Given the description of an element on the screen output the (x, y) to click on. 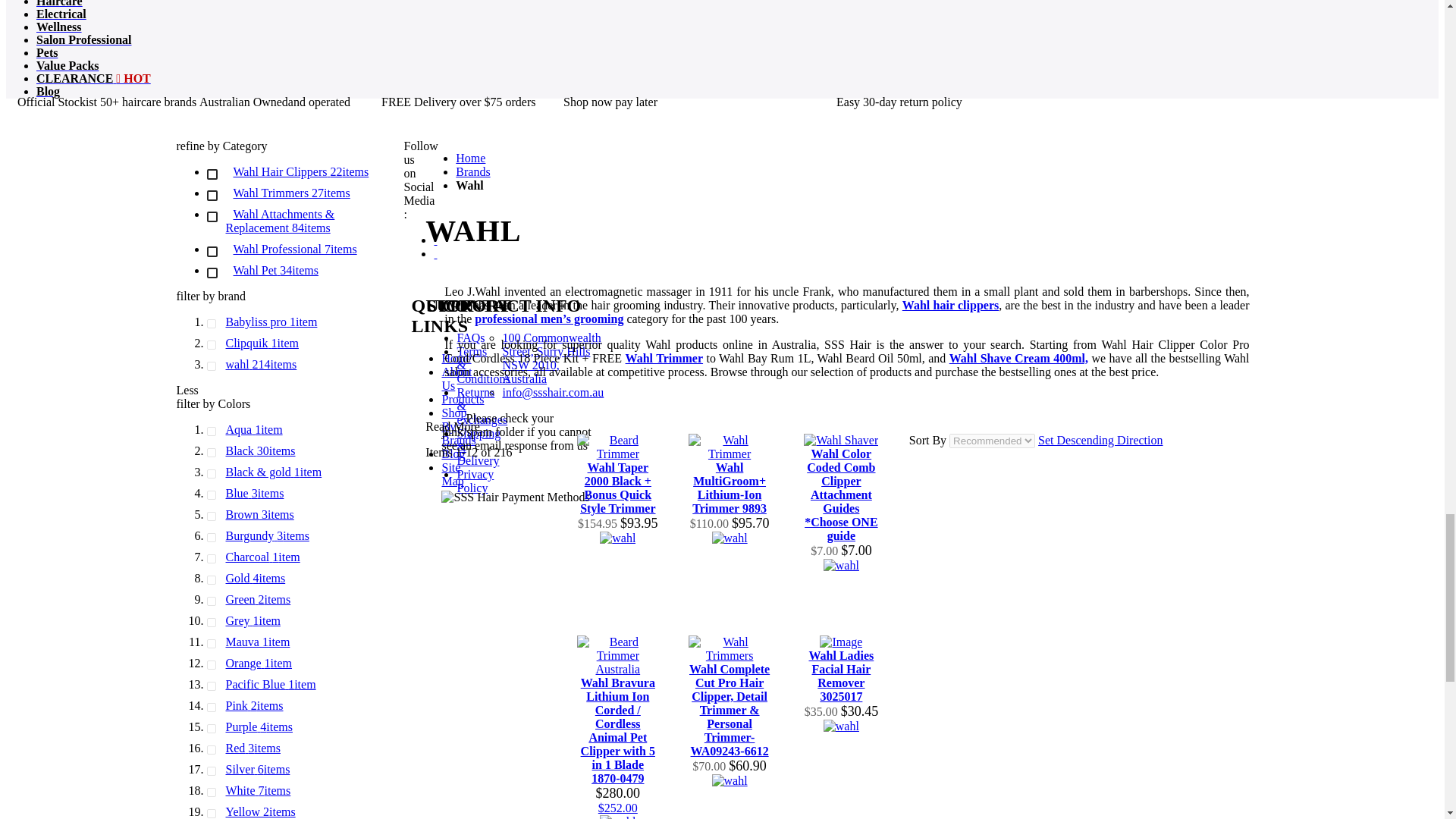
455 (214, 273)
105 (214, 216)
130 (214, 251)
87 (214, 195)
85 (214, 174)
